Given the description of an element on the screen output the (x, y) to click on. 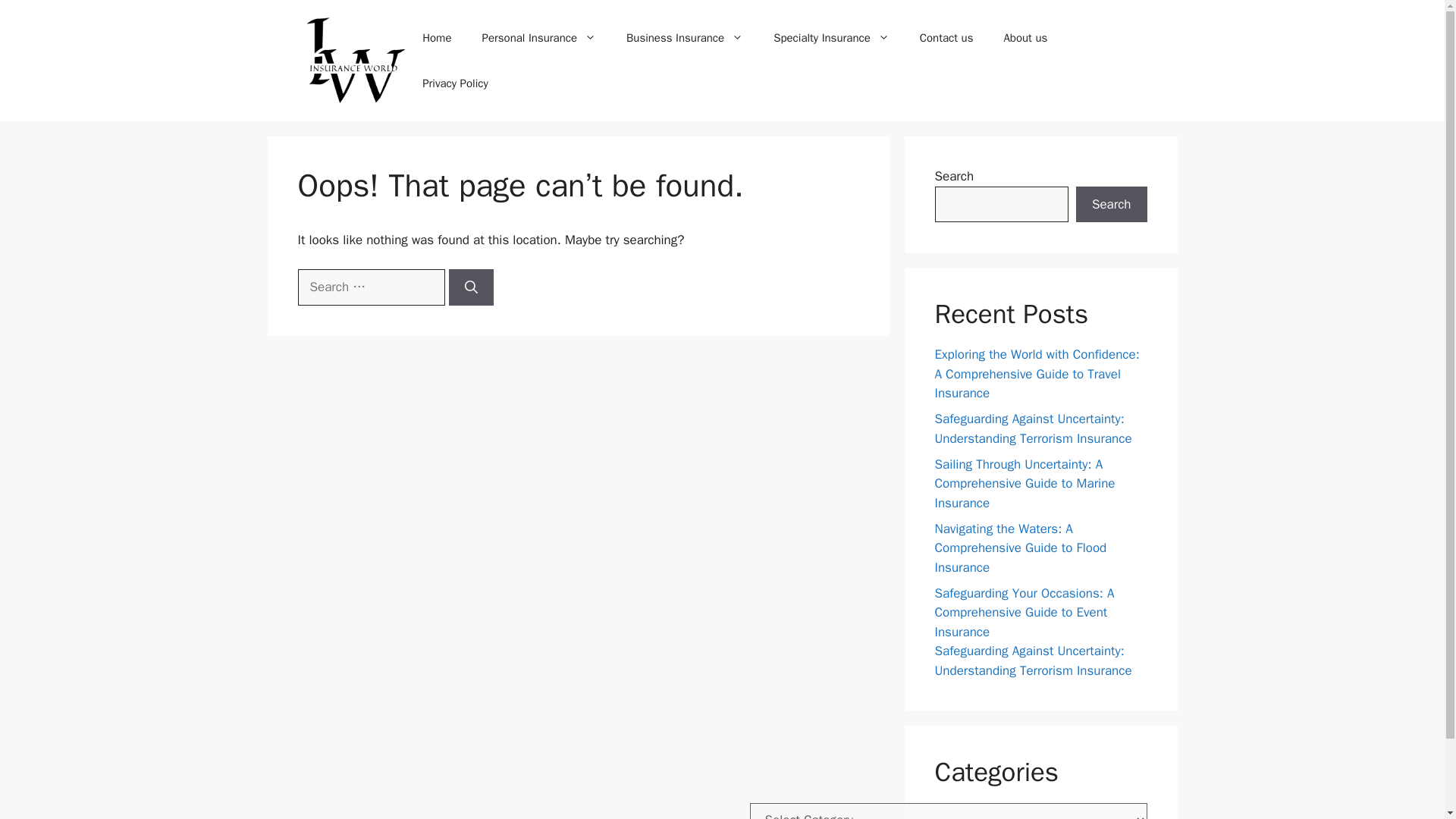
Search (1111, 204)
Specialty Insurance (831, 37)
Business Insurance (684, 37)
Personal Insurance (539, 37)
Contact us (946, 37)
Home (436, 37)
